Given the description of an element on the screen output the (x, y) to click on. 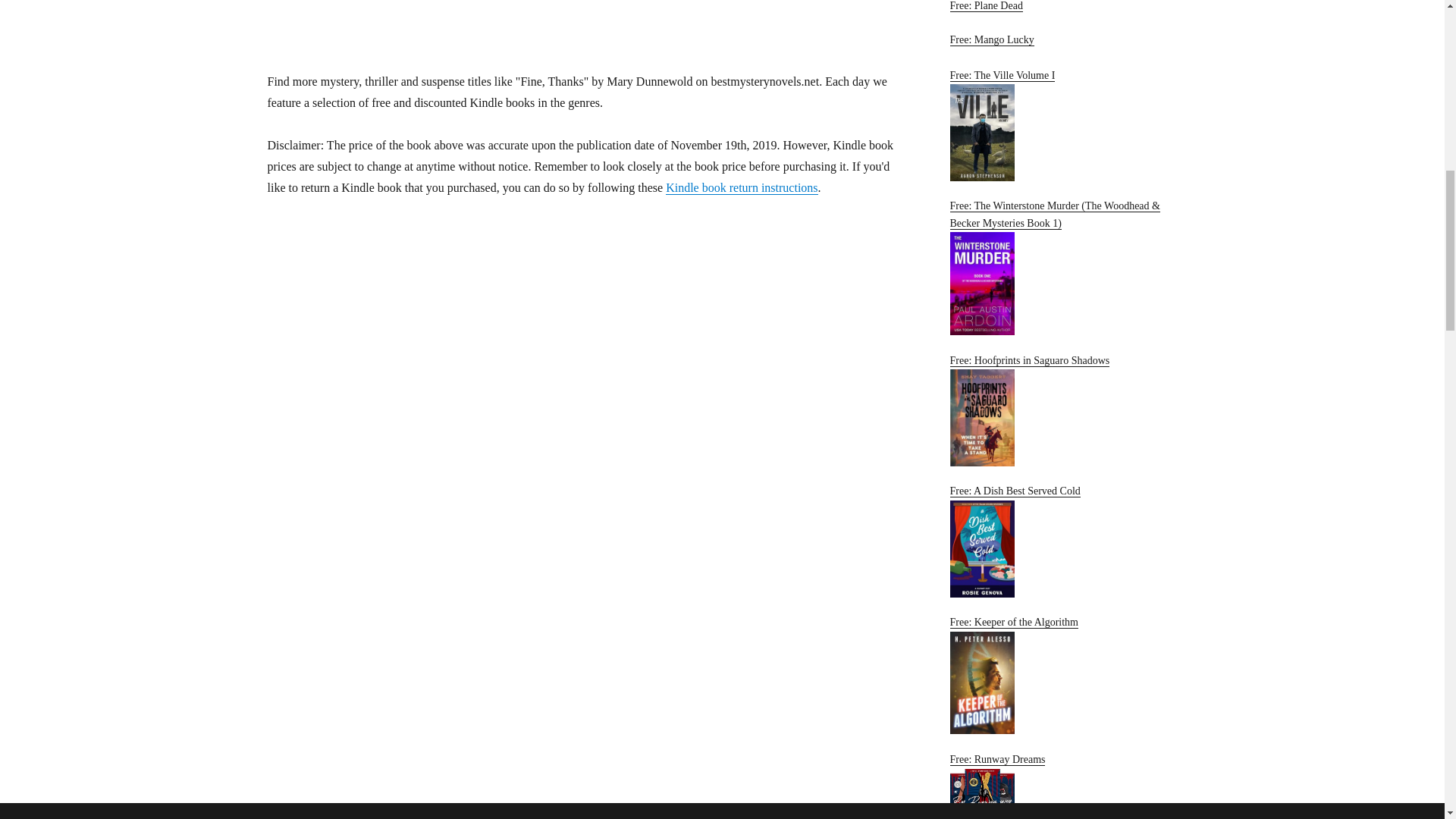
Free: Keeper of the Algorithm (1062, 674)
Free: Runway Dreams (1062, 786)
Free: Plane Dead (985, 5)
Free: The Ville Volume I (1062, 124)
Free: Hoofprints in Saguaro Shadows (1062, 410)
Kindle book return instructions (740, 187)
Free: Mango Lucky (1062, 41)
Free: A Dish Best Served Cold (1062, 541)
